Given the description of an element on the screen output the (x, y) to click on. 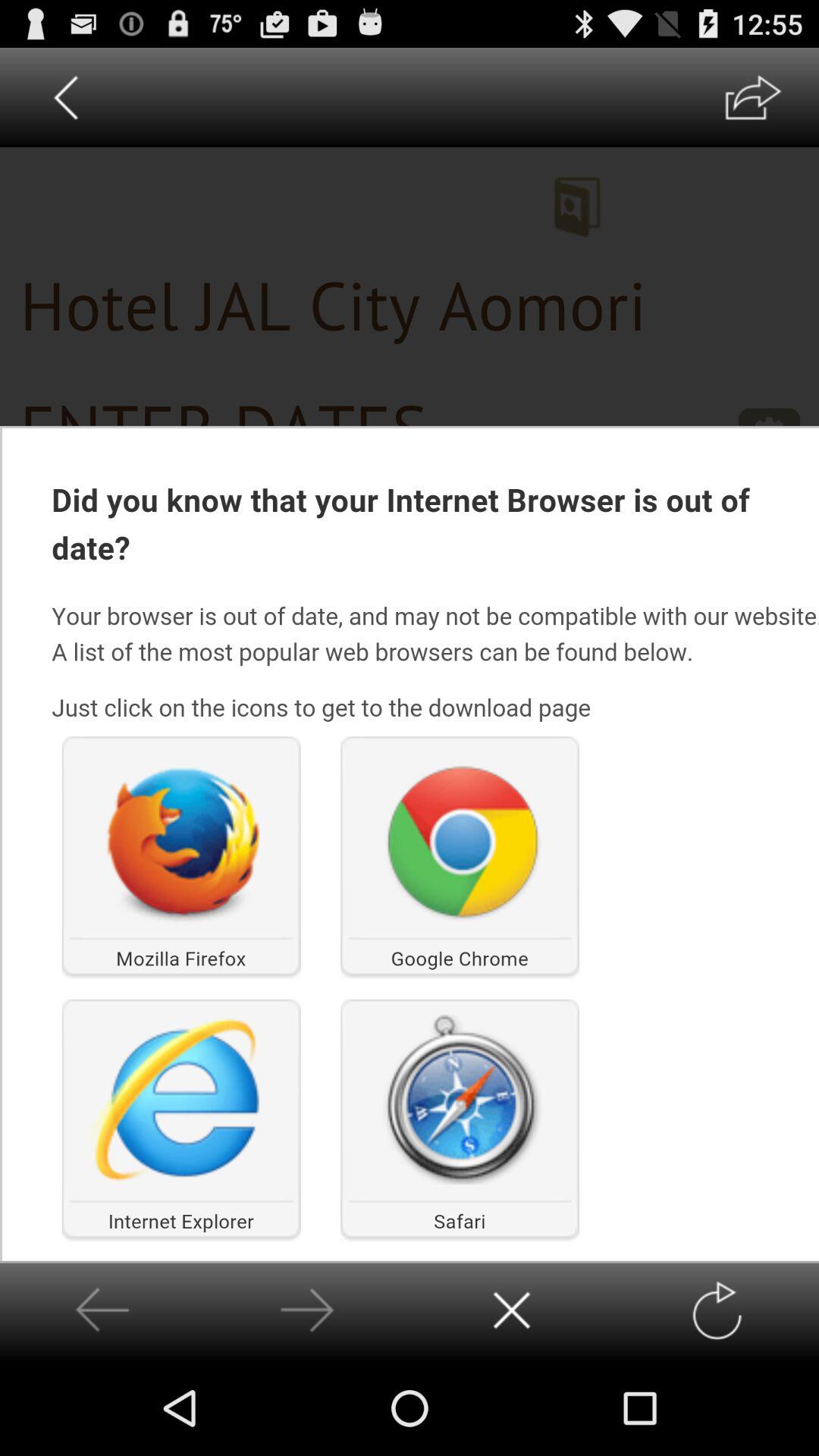
go to next page (306, 1310)
